Given the description of an element on the screen output the (x, y) to click on. 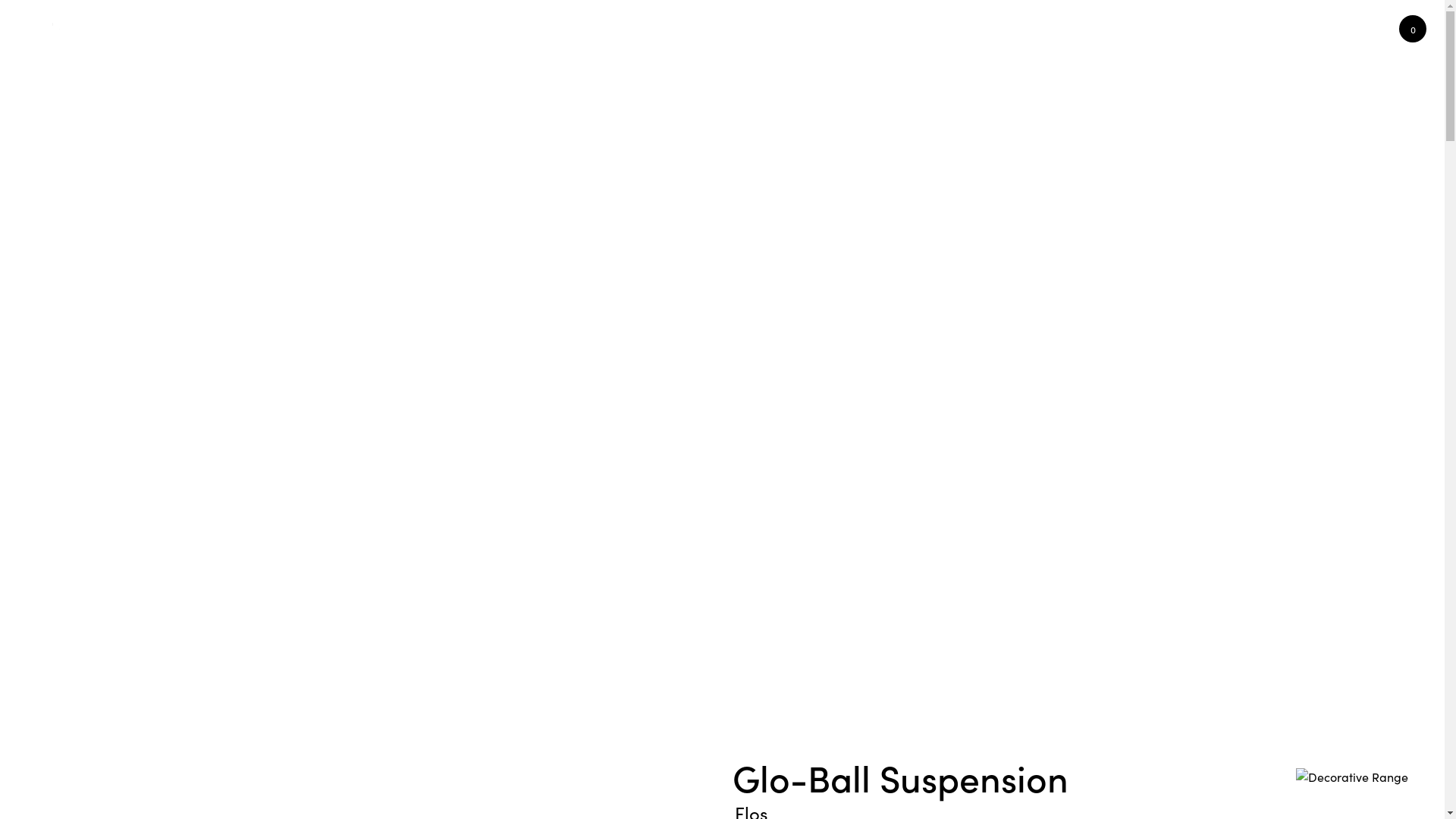
Contact Element type: text (1301, 21)
Brands Element type: text (982, 21)
0 Element type: text (1412, 25)
Designers Element type: text (1062, 21)
Stories Element type: text (1142, 21)
Products Element type: text (823, 21)
About Us Element type: text (1221, 21)
Case Studies Element type: text (903, 21)
